Given the description of an element on the screen output the (x, y) to click on. 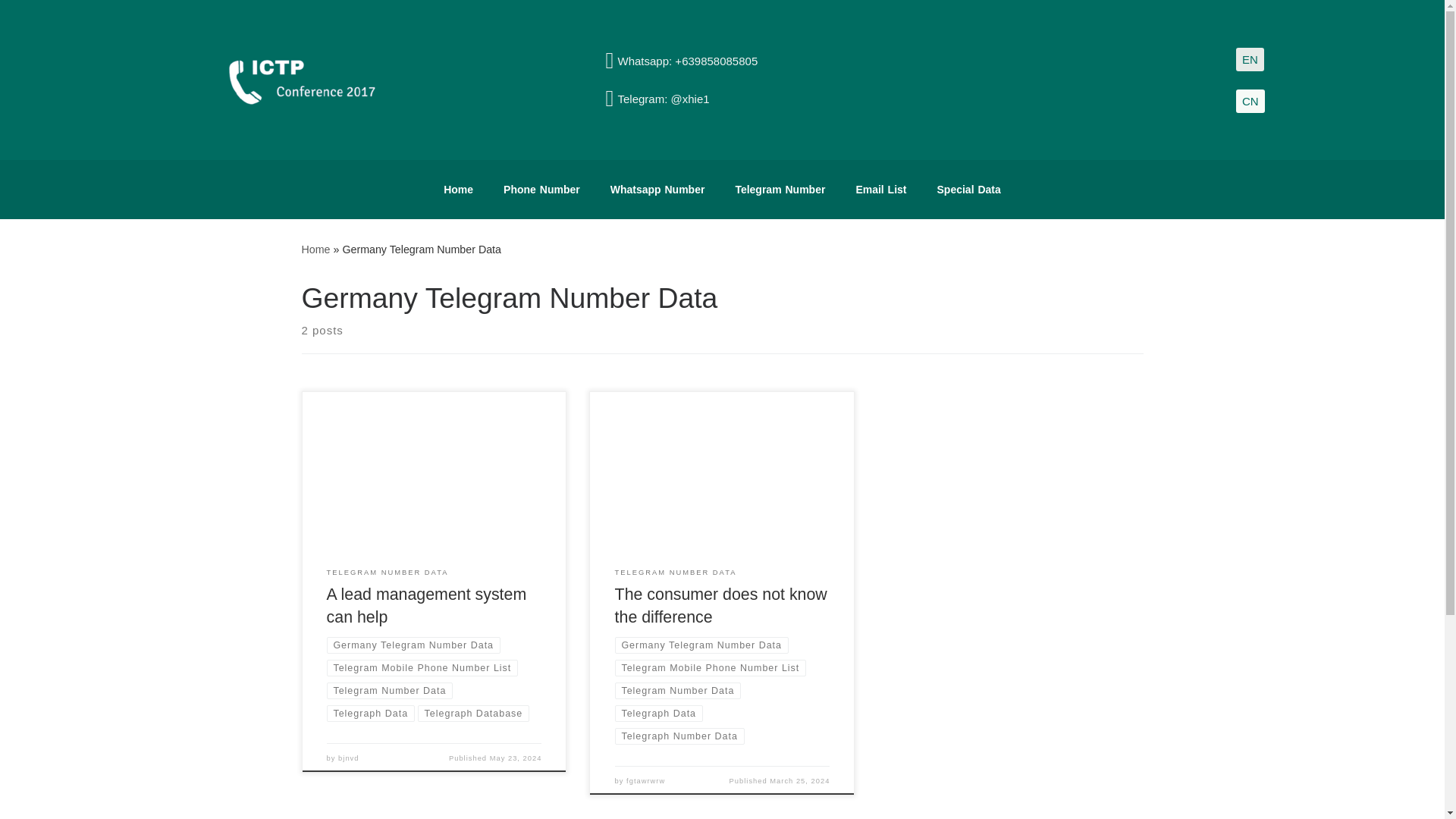
CN (1250, 100)
View all posts in Telegram Mobile Phone Number List (422, 668)
Telegram Number Data (389, 690)
View all posts by bjnvd (347, 758)
Telegraph Number Data (679, 736)
ICTP conference 2017 (315, 248)
View all posts in Telegraph Number Data (679, 736)
March 25, 2024 (799, 780)
View all posts in Telegram Number Data (677, 690)
